Given the description of an element on the screen output the (x, y) to click on. 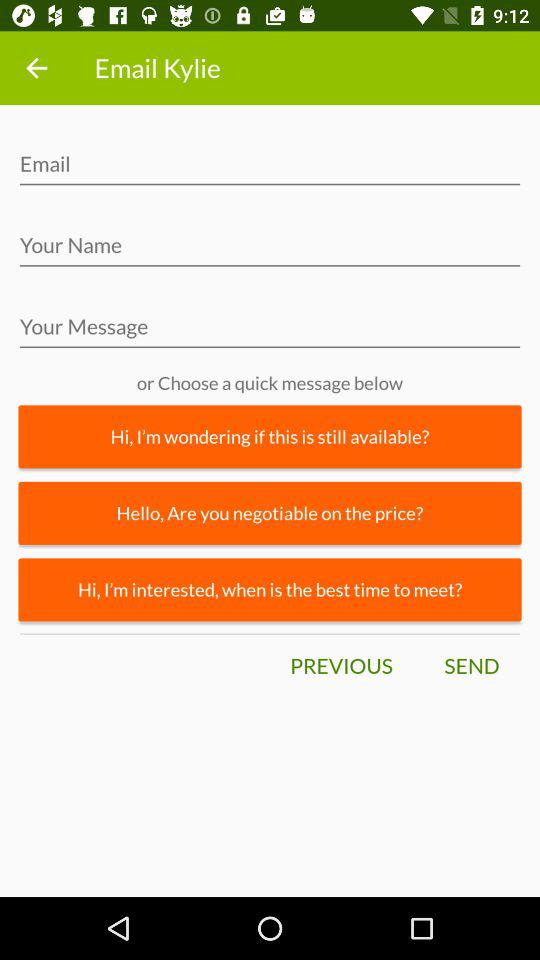
turn on icon to the left of the email kylie (36, 68)
